Given the description of an element on the screen output the (x, y) to click on. 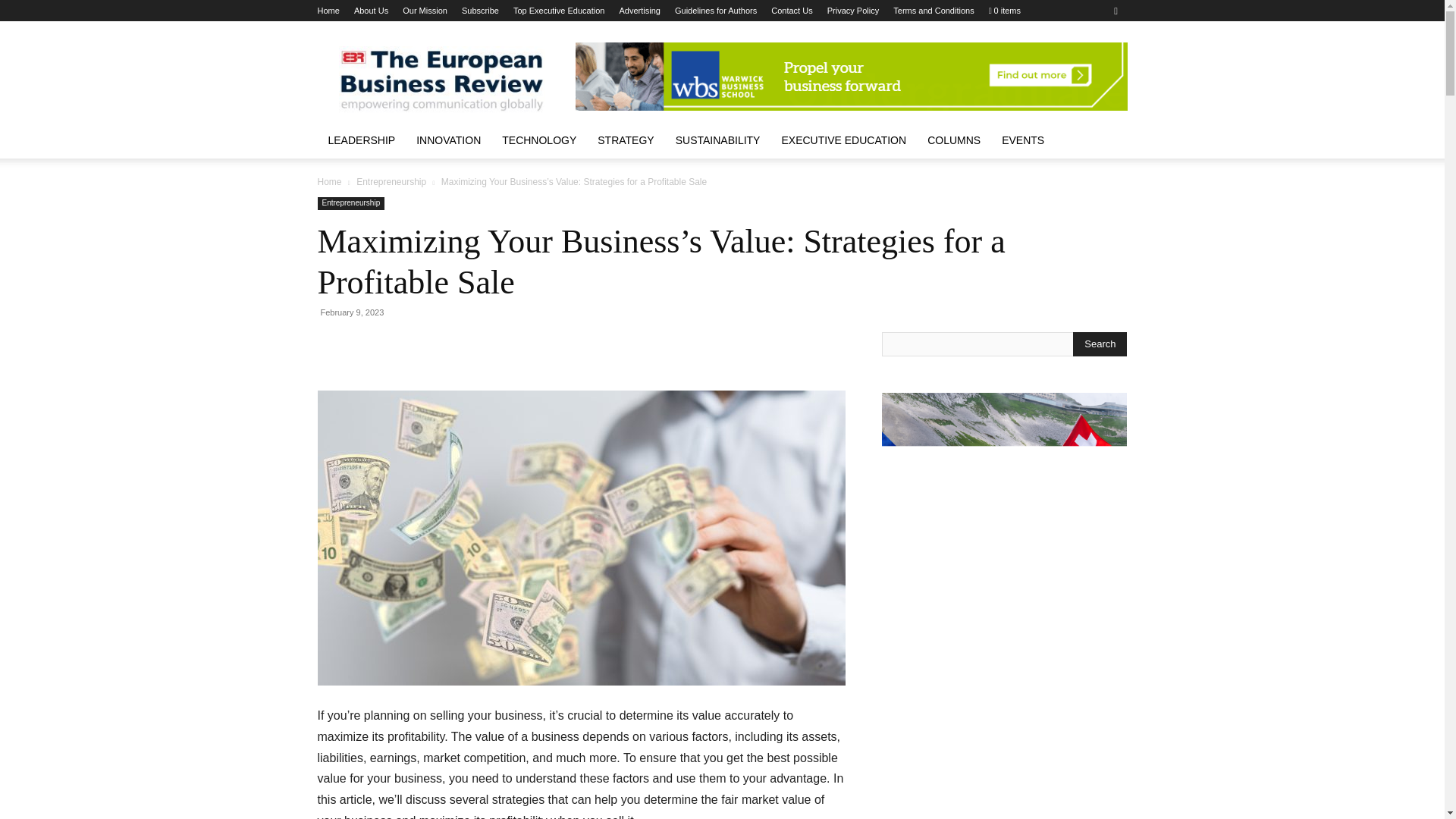
View all posts in Entrepreneurship (391, 181)
Innovation (449, 140)
Start shopping (1004, 10)
Search (1099, 344)
advertisement (850, 76)
